Given the description of an element on the screen output the (x, y) to click on. 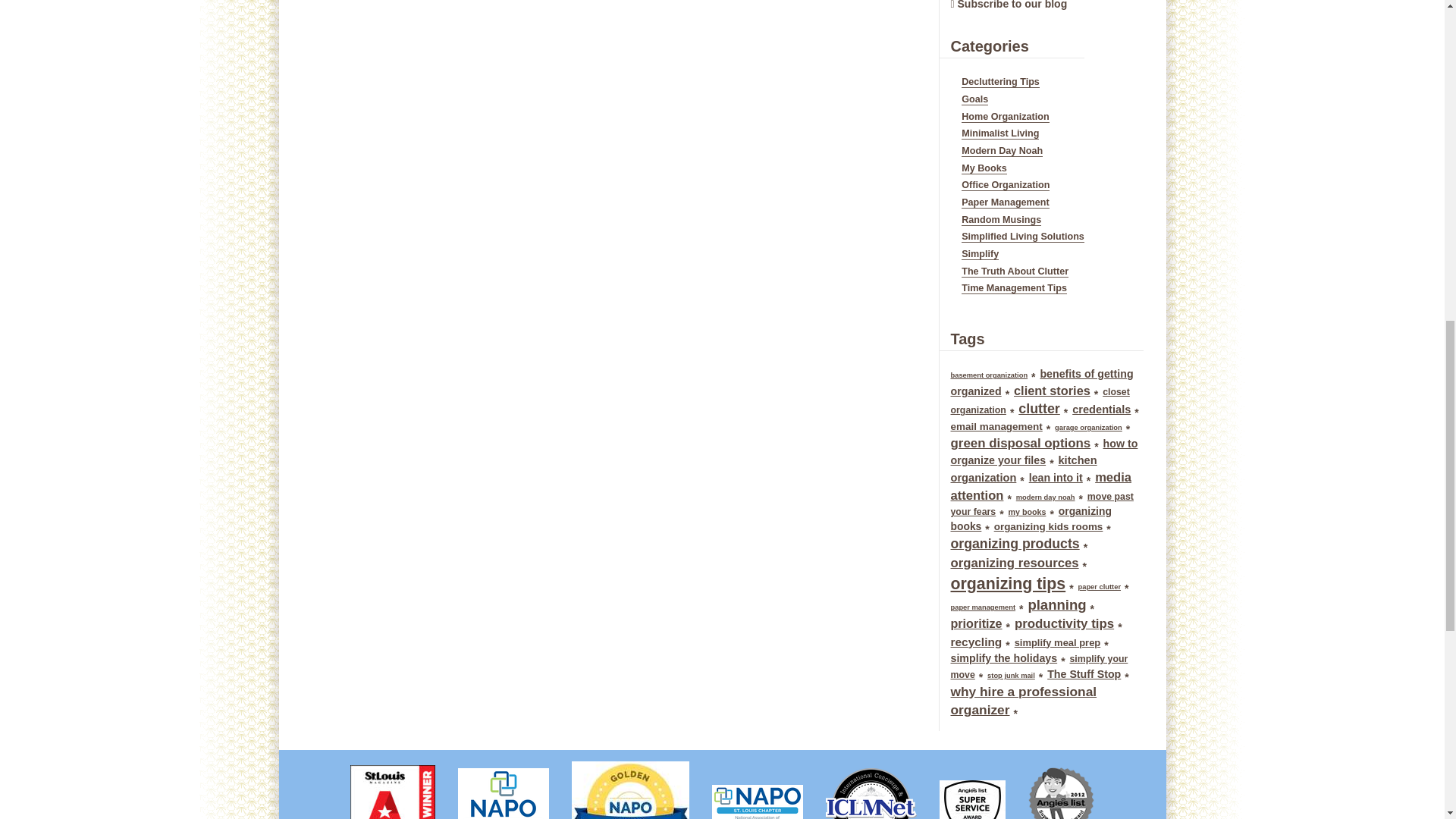
Random Musings (1000, 220)
My Books (983, 168)
Office Organization (1004, 184)
NAPO Golden Circle (630, 784)
Modern Day Noah (1001, 151)
Minimalist Living (999, 133)
NAPO National (503, 787)
NAPO St Louis (756, 796)
Decluttering Tips (999, 81)
Subscribe to our blog (1012, 4)
Home Organization (1004, 116)
Paper Management (1004, 202)
Goals (974, 99)
